Given the description of an element on the screen output the (x, y) to click on. 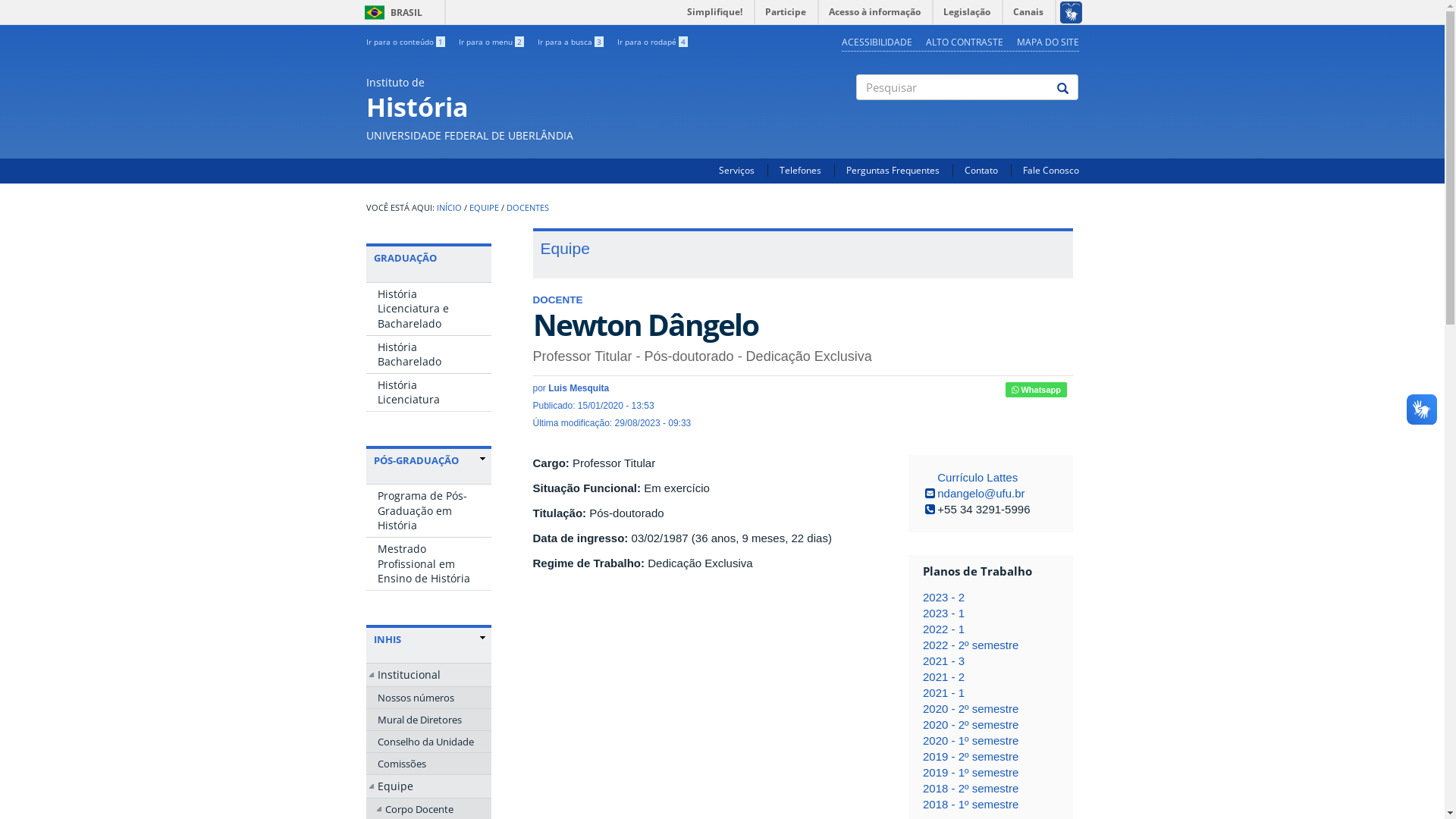
2021 - 2 Element type: text (943, 676)
2023 - 1 Element type: text (943, 612)
2021 - 1 Element type: text (943, 692)
Ir para a busca 3 Element type: text (569, 41)
Fale Conosco Element type: text (1050, 169)
Equipe Element type: text (427, 786)
INHIS Element type: text (428, 638)
ndangelo@ufu.br Element type: text (980, 492)
MAPA DO SITE Element type: text (1047, 41)
BRASIL Element type: text (373, 12)
Institucional Element type: text (427, 674)
Tweet Widget Element type: text (998, 389)
2022 - 1 Element type: text (943, 628)
Mural de Diretores Element type: text (427, 719)
Telefones Element type: text (800, 169)
2023 - 2 Element type: text (943, 596)
Whatsapp Element type: text (1035, 389)
DOCENTES Element type: text (527, 207)
ACESSIBILIDADE Element type: text (876, 41)
Ir para o menu 2 Element type: text (490, 41)
Conselho da Unidade Element type: text (427, 741)
ALTO CONTRASTE Element type: text (963, 41)
Contato Element type: text (980, 169)
2021 - 3 Element type: text (943, 660)
Perguntas Frequentes Element type: text (892, 169)
EQUIPE Element type: text (483, 207)
Pesquisar Element type: text (856, 112)
